Given the description of an element on the screen output the (x, y) to click on. 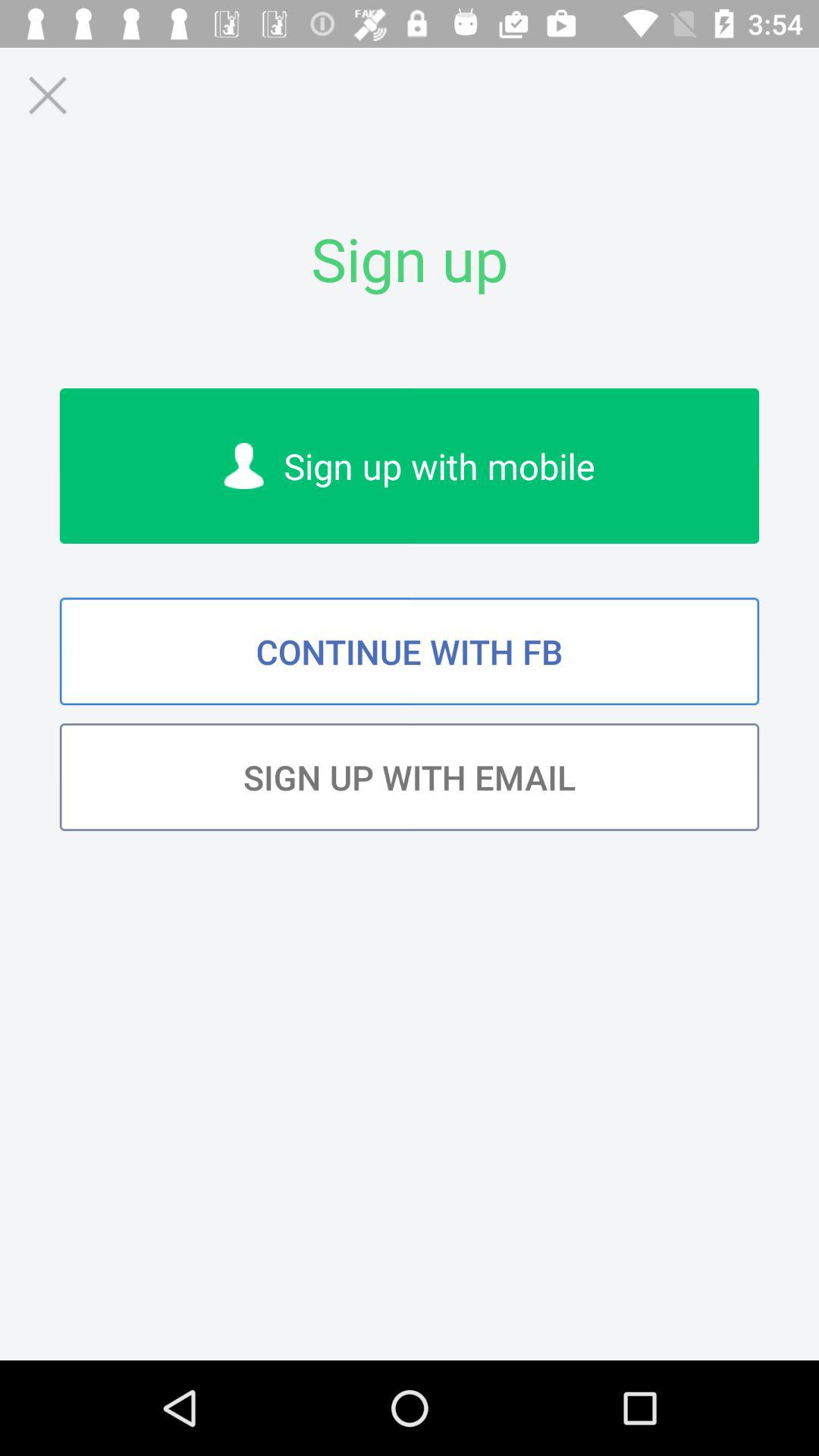
press item above the sign up with item (409, 651)
